Given the description of an element on the screen output the (x, y) to click on. 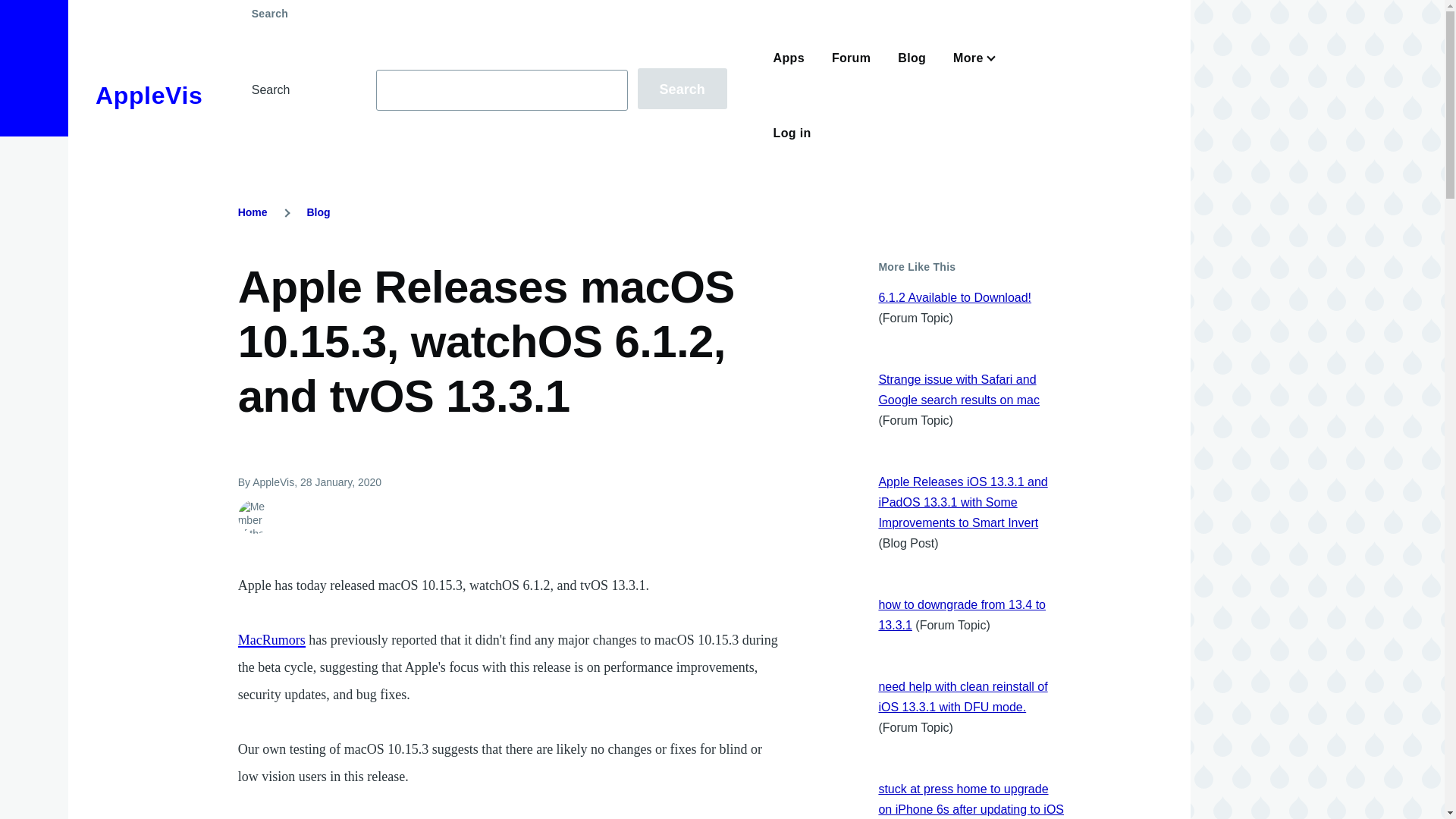
Home (149, 94)
Skip to main content (595, 6)
Search (681, 87)
Blog (317, 212)
AppleVis (149, 94)
6.1.2 Available to Download! (953, 297)
need help with clean reinstall of iOS 13.3.1 with DFU mode. (961, 696)
MacRumors (271, 639)
